Given the description of an element on the screen output the (x, y) to click on. 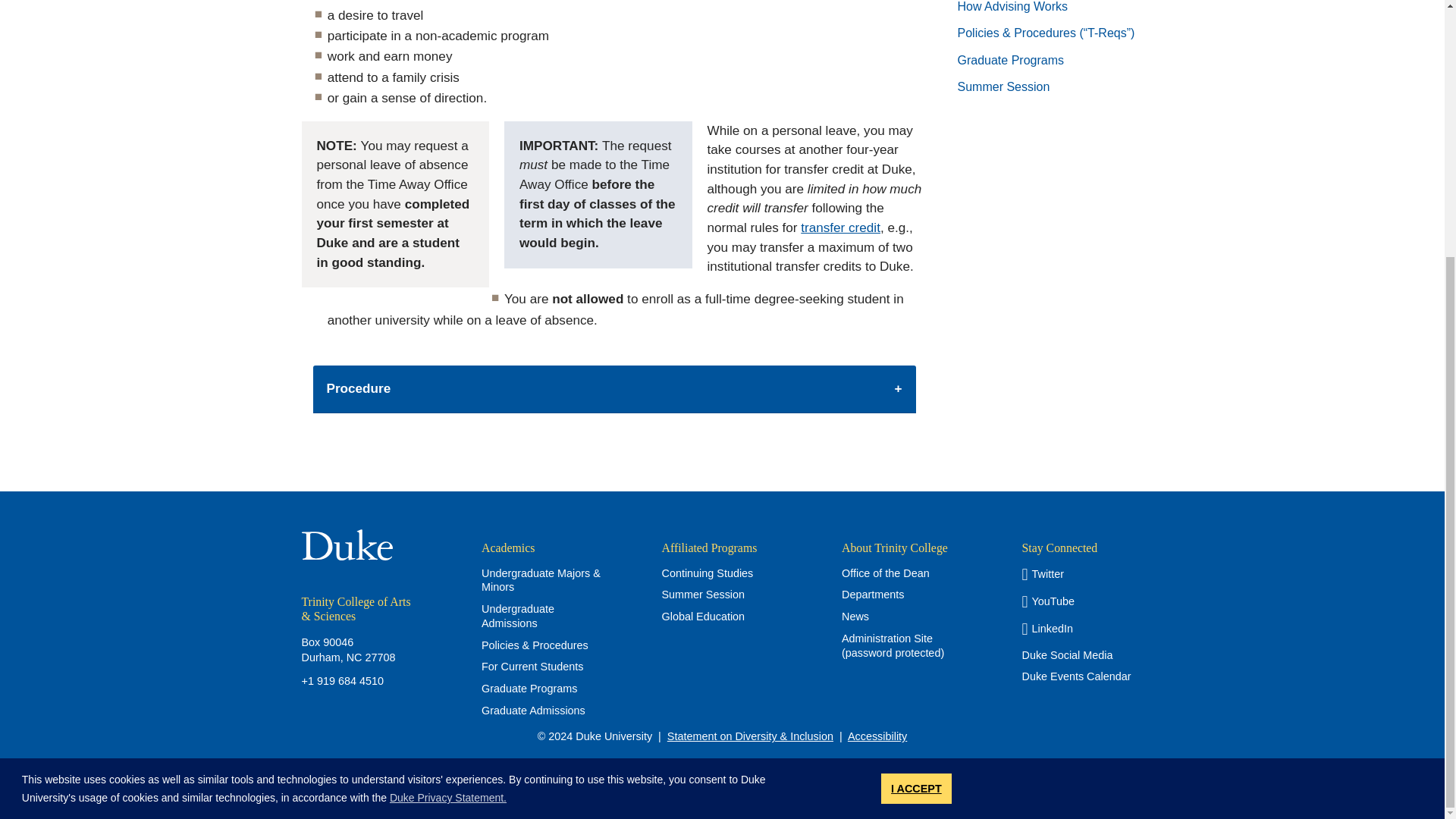
Duke Privacy Statement. (448, 432)
I ACCEPT (916, 422)
Log in with Shibboleth (722, 772)
